Given the description of an element on the screen output the (x, y) to click on. 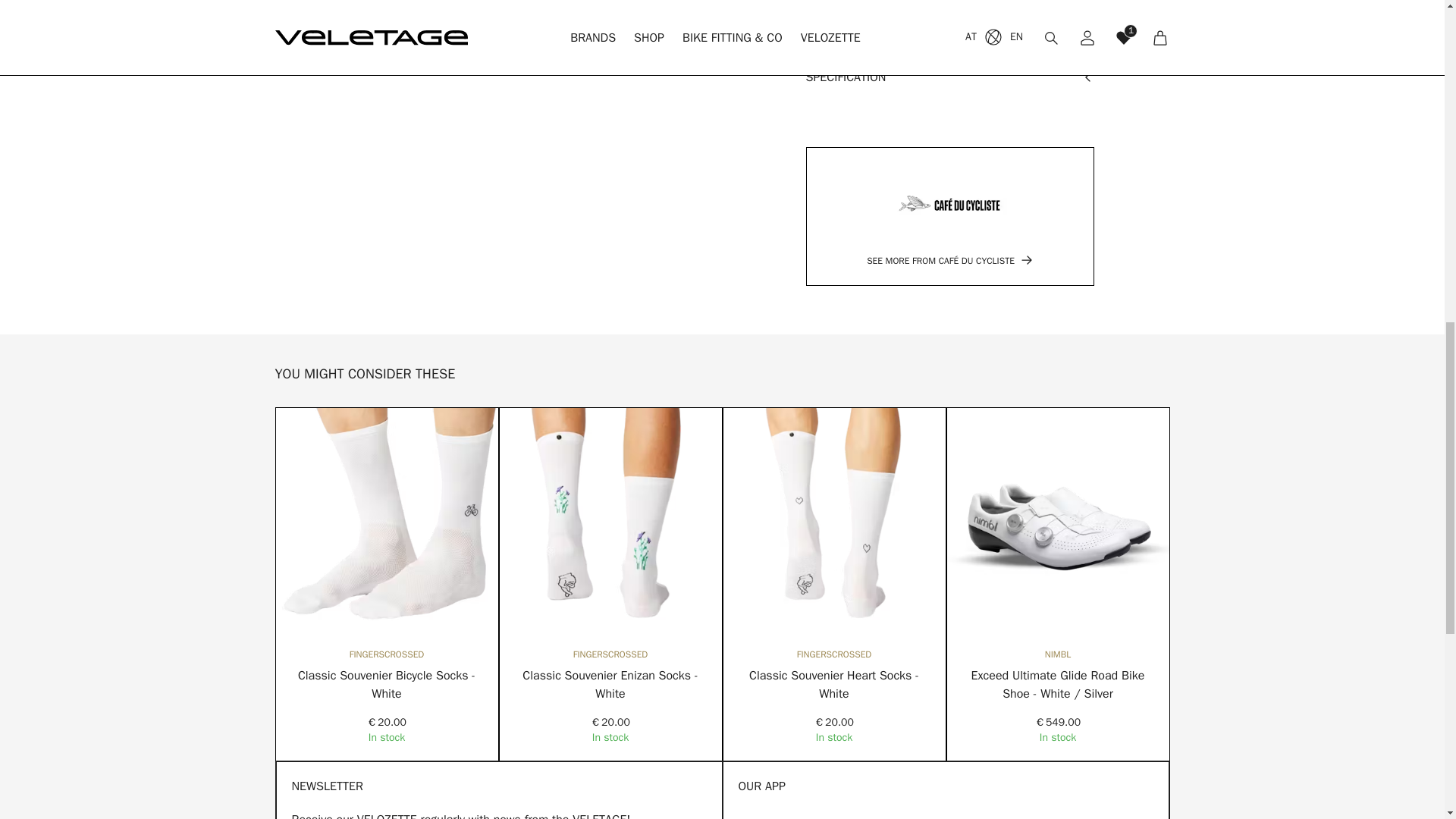
Classic Souvenier Enizan Socks - White (609, 684)
Classic Souvenier Heart Socks - White (834, 684)
Classic Souvenier Bicycle Socks - White (387, 684)
SPECIFICATION (949, 77)
